Given the description of an element on the screen output the (x, y) to click on. 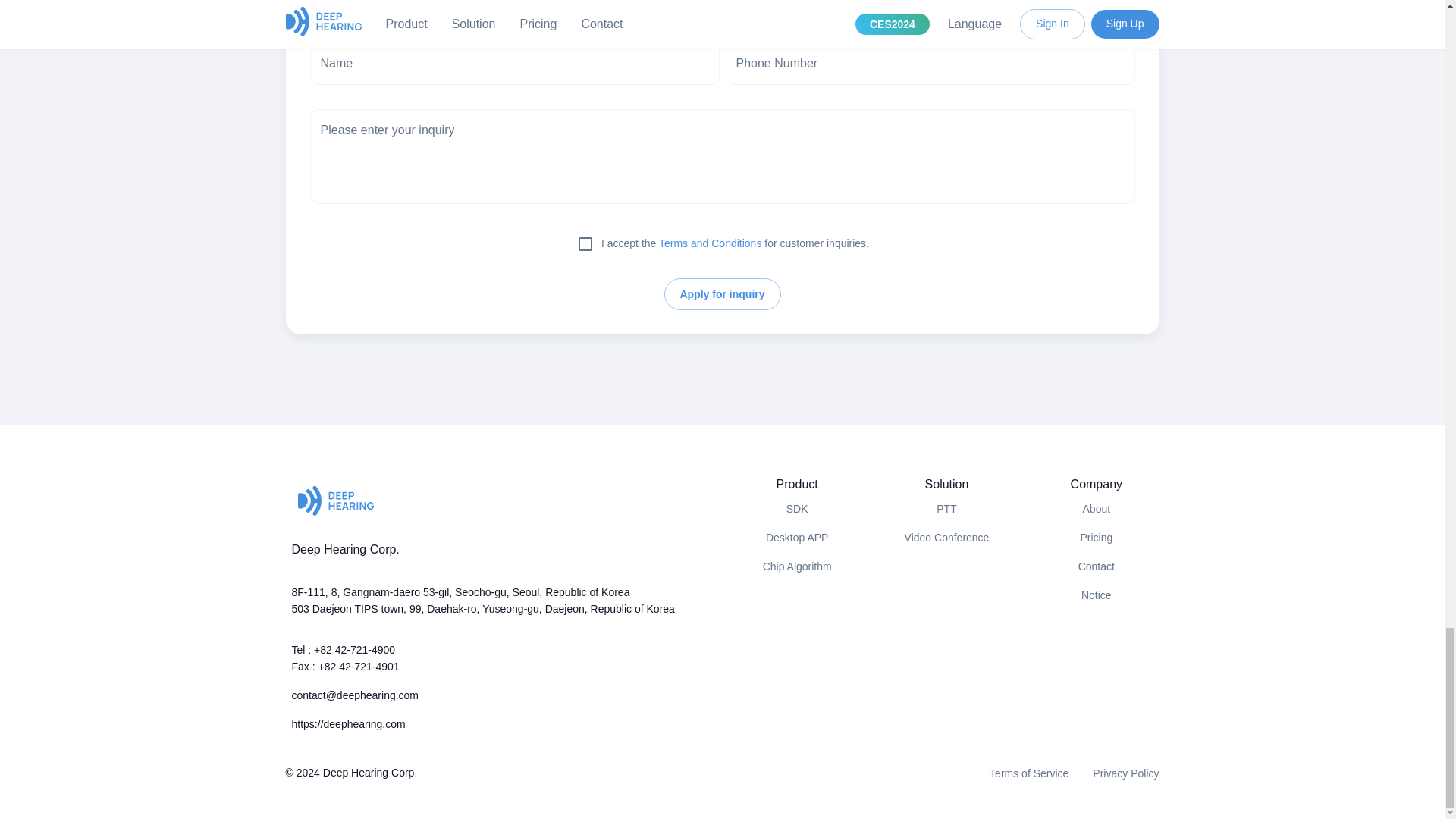
Desktop APP (796, 538)
SDK (797, 509)
PTT (946, 509)
Chip Algorithm (796, 566)
Terms of Service (1029, 773)
Pricing (1096, 538)
Apply for inquiry (721, 294)
Terms and Conditions (710, 243)
Contact (1096, 566)
Privacy Policy (1125, 773)
Video Conference (947, 538)
About (1096, 509)
Notice (1096, 596)
